Given the description of an element on the screen output the (x, y) to click on. 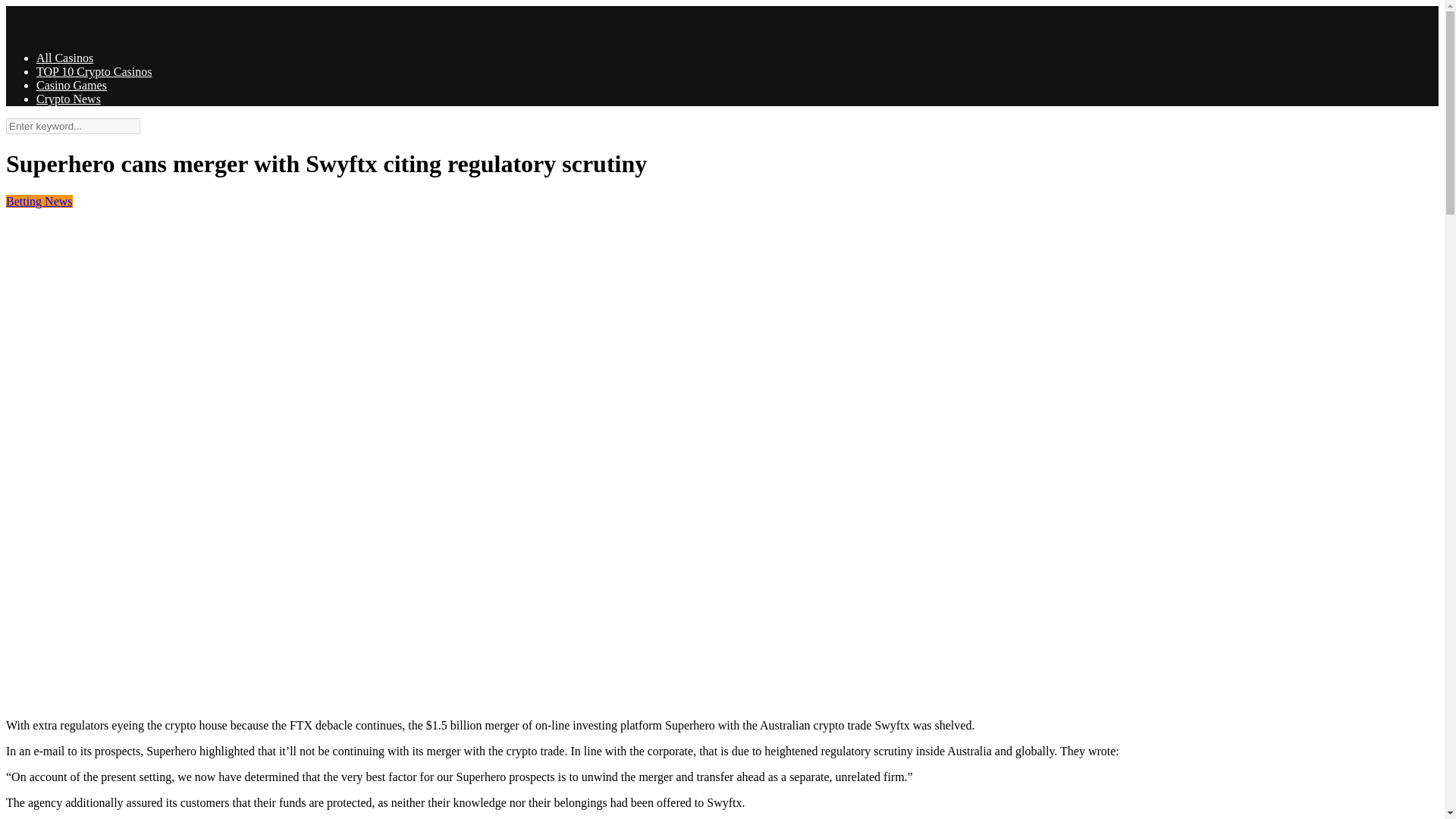
Best Online Crypto Casinos (20, 31)
TOP 10 Crypto Casinos (93, 71)
Betting News (38, 201)
Casino Games (71, 84)
Crypto News (68, 98)
All Casinos (64, 57)
